Given the description of an element on the screen output the (x, y) to click on. 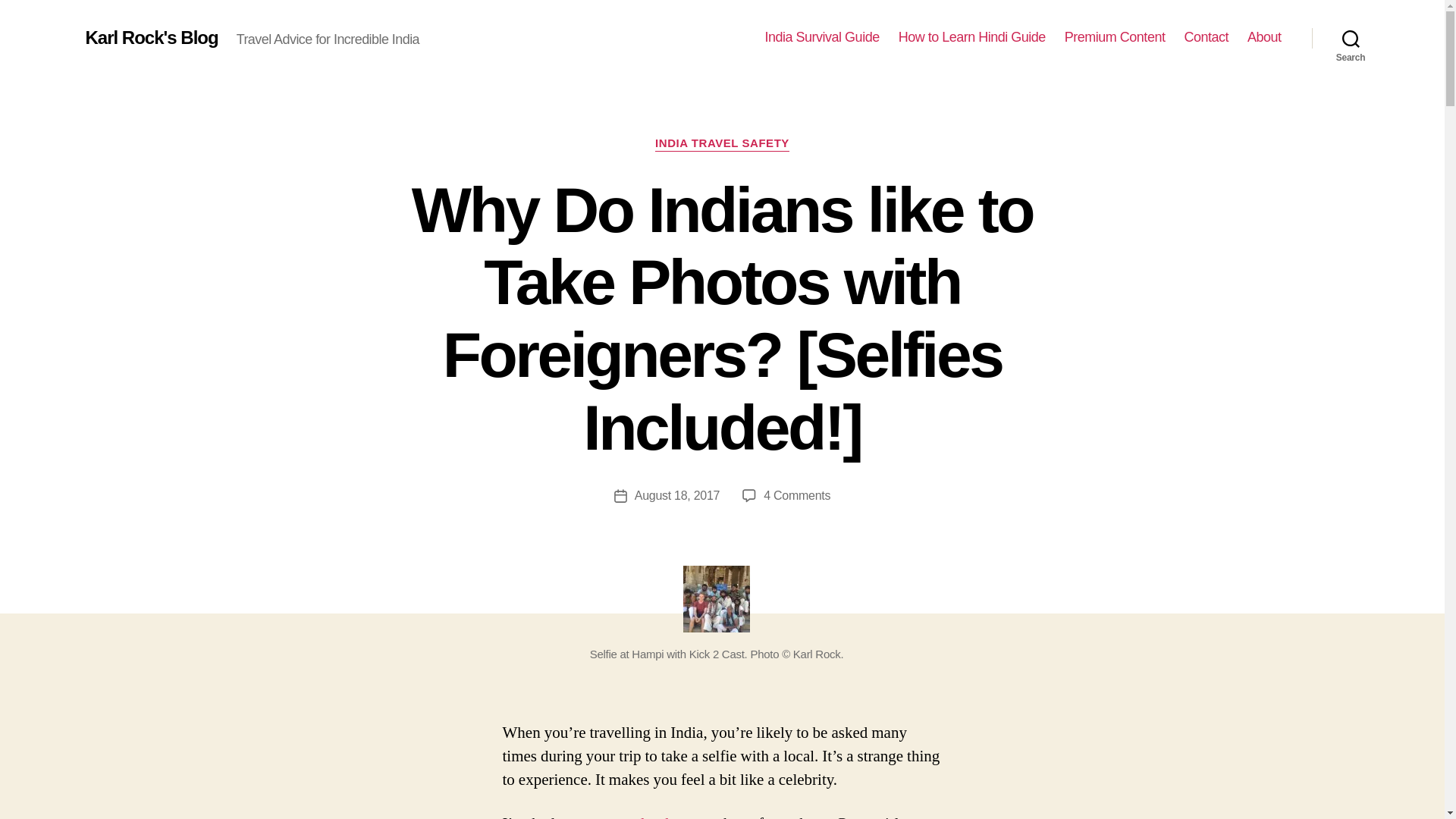
India Survival Guide (822, 37)
Karl Rock's Blog (150, 37)
everyone under the sun (632, 816)
Contact (1205, 37)
Premium Content (1115, 37)
INDIA TRAVEL SAFETY (722, 143)
Search (1350, 37)
How to Learn Hindi Guide (971, 37)
August 18, 2017 (677, 495)
About (1264, 37)
